Given the description of an element on the screen output the (x, y) to click on. 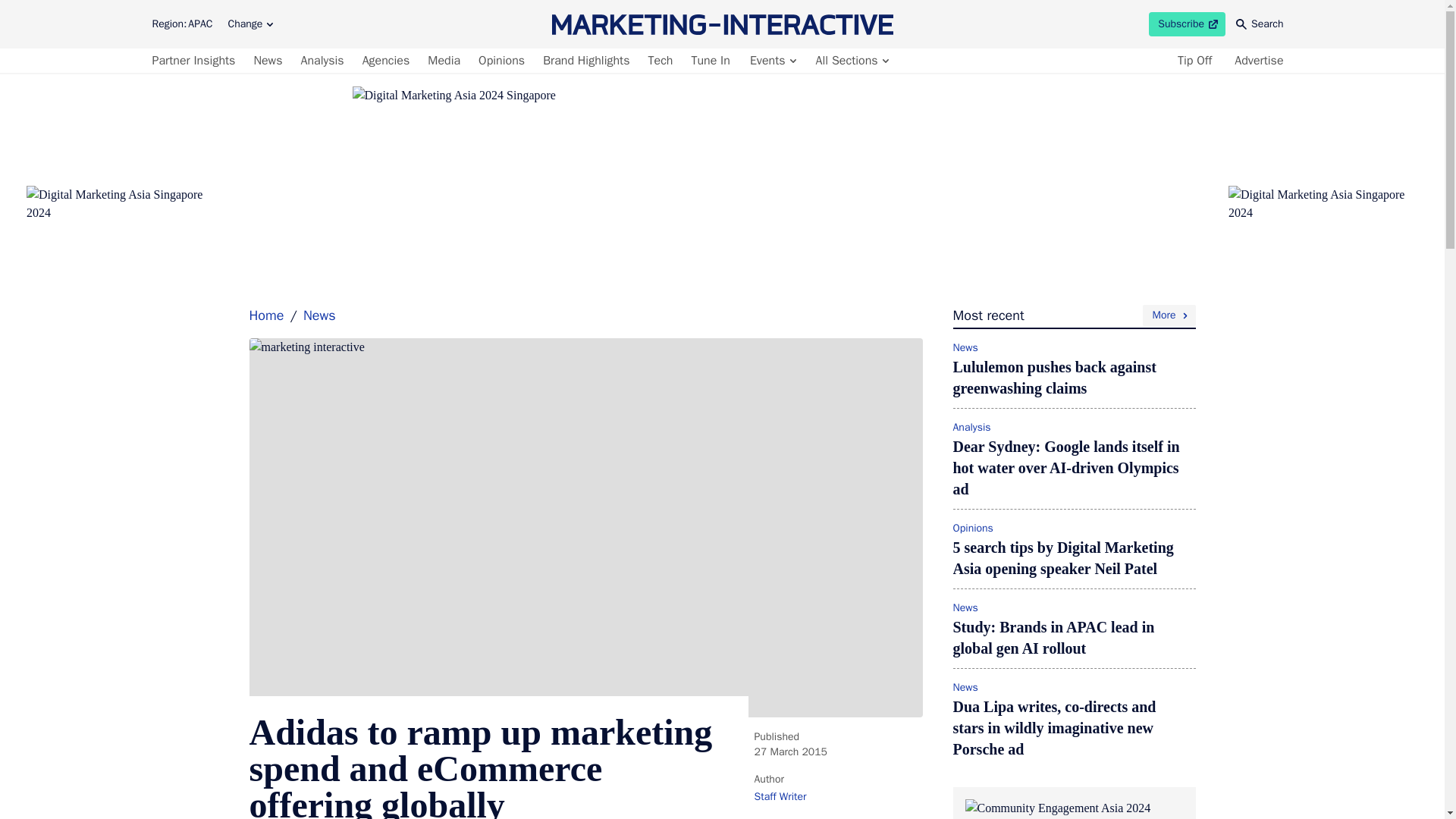
Media (443, 60)
Agencies (386, 60)
Partner Insights (195, 60)
Events (772, 60)
Brand Highlights (1186, 24)
Tune In (585, 60)
Change (709, 60)
Search (250, 24)
Tech (1260, 24)
All Sections (660, 60)
News (851, 60)
Analysis (267, 60)
Opinions (321, 60)
